Given the description of an element on the screen output the (x, y) to click on. 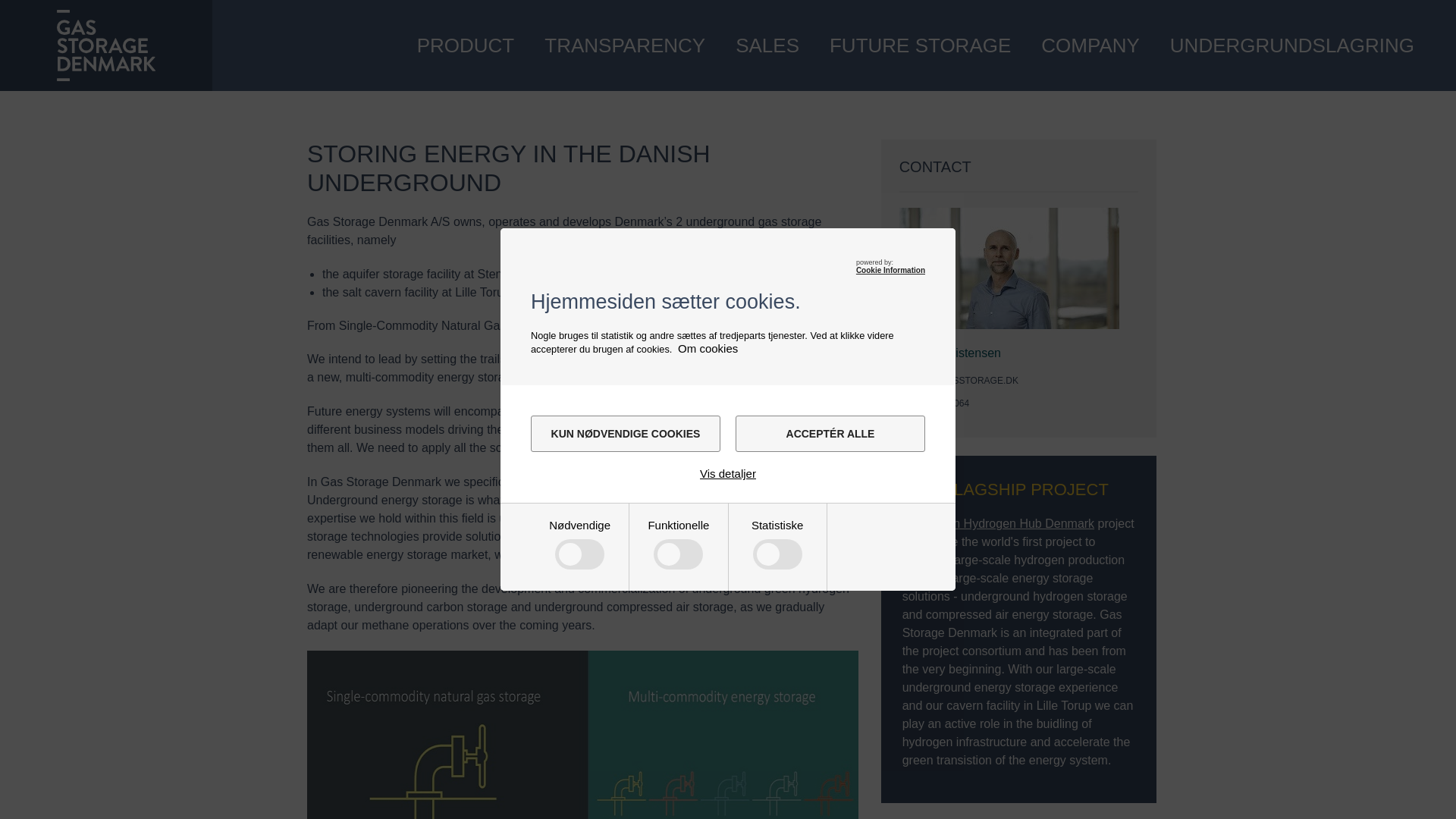
Vis detaljer (727, 472)
Cookie Information (890, 270)
Funktionelle (579, 621)
Gas Storage (105, 45)
Om cookies (708, 348)
Statistiske (579, 727)
